Given the description of an element on the screen output the (x, y) to click on. 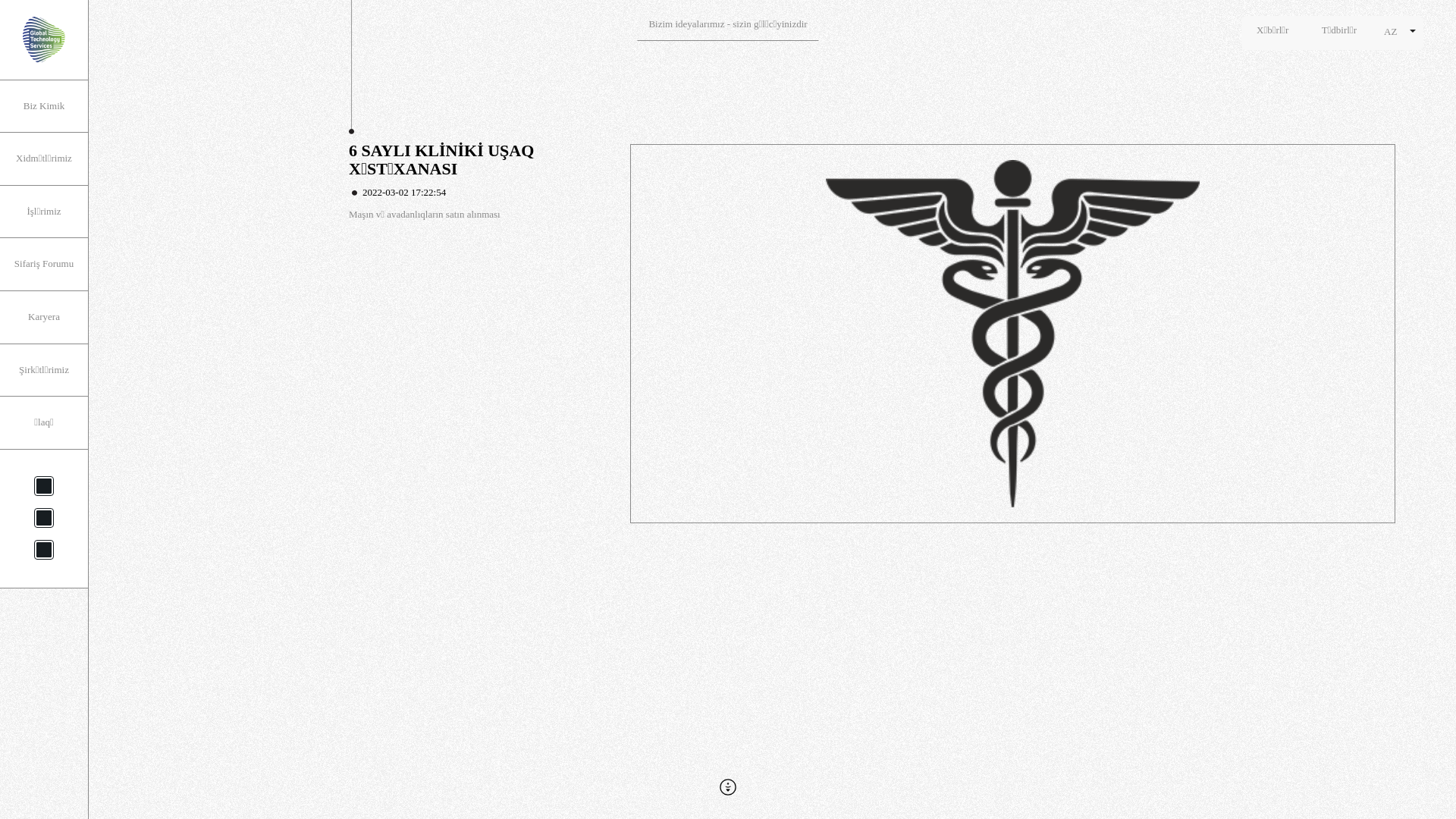
Karyera Element type: text (43, 317)
Biz Kimik Element type: text (43, 106)
